Given the description of an element on the screen output the (x, y) to click on. 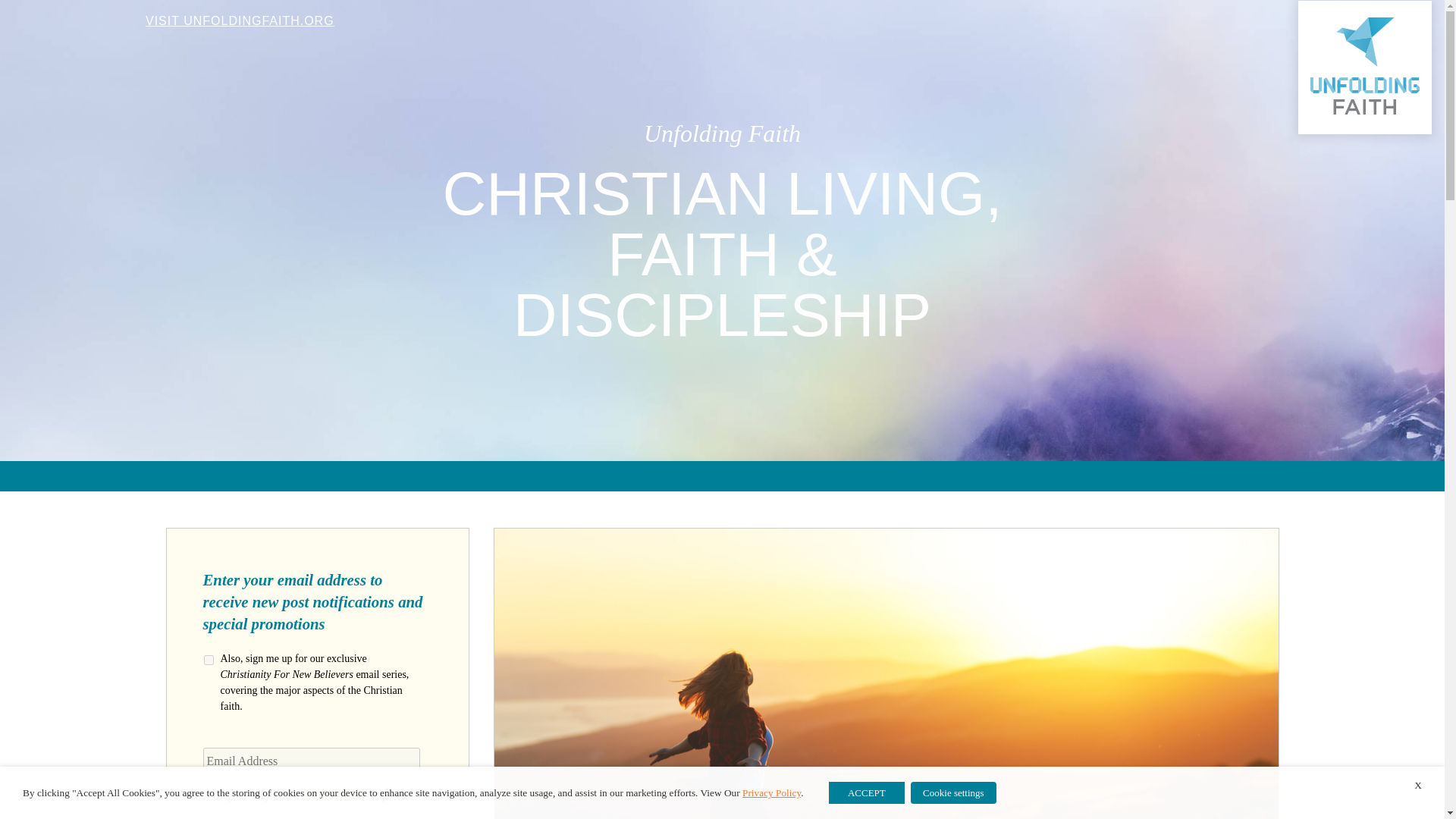
ACCEPT (866, 792)
Yes (207, 660)
Privacy Policy (771, 792)
VISIT UNFOLDINGFAITH.ORG (239, 20)
Cookie settings (953, 793)
privacy policy (331, 795)
